Given the description of an element on the screen output the (x, y) to click on. 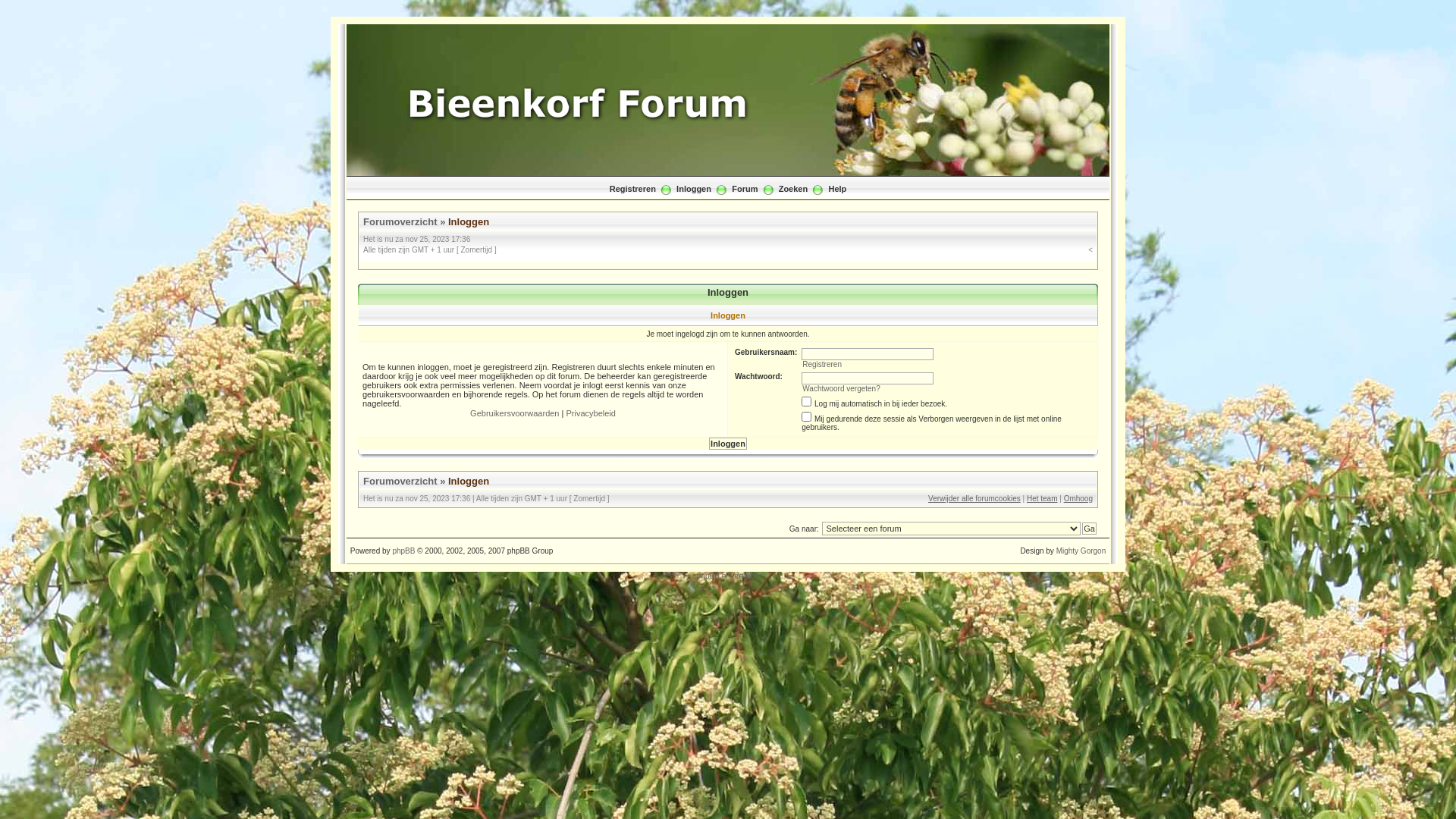
Zoeken Element type: text (793, 187)
phpBB Element type: text (403, 550)
Het team Element type: text (1041, 498)
Gebruikersvoorwaarden Element type: text (514, 412)
Wachtwoord vergeten? Element type: text (840, 388)
Inloggen Element type: text (468, 221)
Registreren Element type: text (821, 364)
Omhoog Element type: text (1077, 498)
Inloggen Element type: text (727, 443)
Privacybeleid Element type: text (590, 412)
Forumoverzicht Element type: text (400, 480)
Forumoverzicht Element type: text (400, 221)
Mighty Gorgon Element type: text (1081, 550)
phpBB.nl Vertaling Element type: text (727, 575)
Verwijder alle forumcookies Element type: text (974, 498)
Help Element type: text (837, 187)
Inloggen Element type: text (468, 480)
Inloggen Element type: text (693, 187)
Ga Element type: text (1089, 528)
Forum Element type: text (744, 187)
Registreren Element type: text (632, 187)
